Given the description of an element on the screen output the (x, y) to click on. 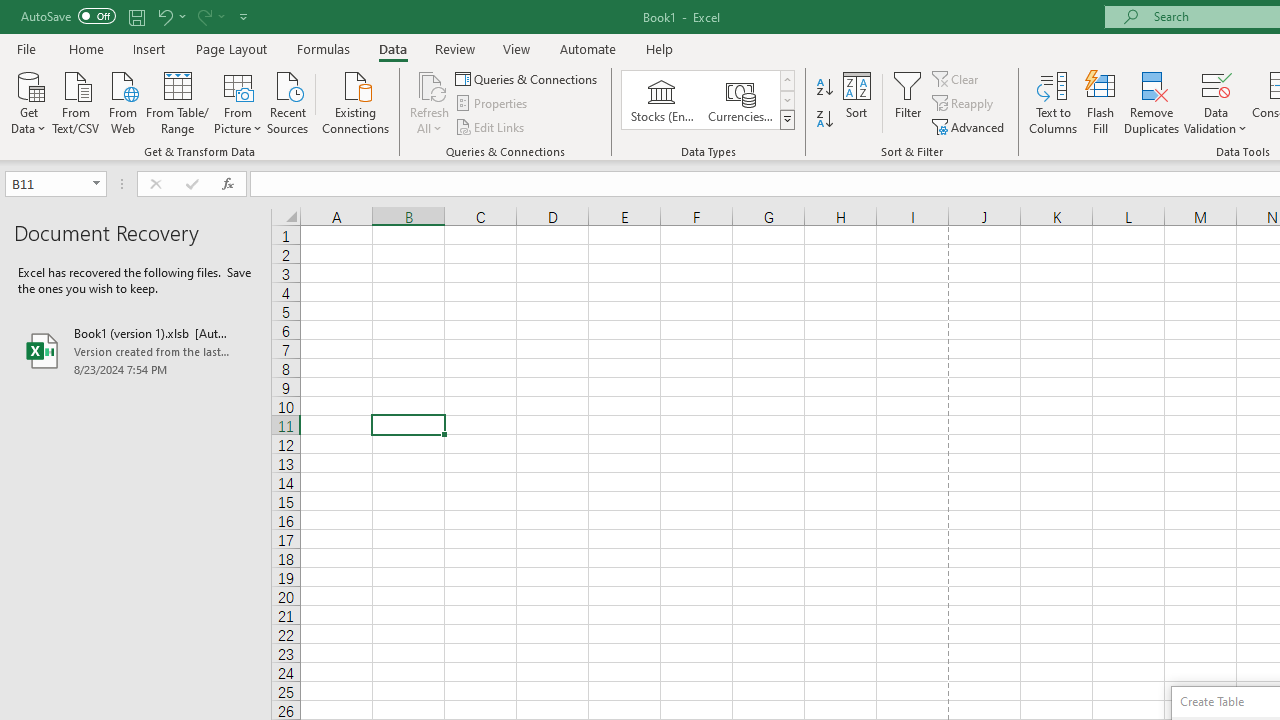
Flash Fill (1101, 102)
From Table/Range (177, 101)
Stocks (English) (662, 100)
AutomationID: ConvertToLinkedEntity (708, 99)
From Picture (238, 101)
